Given the description of an element on the screen output the (x, y) to click on. 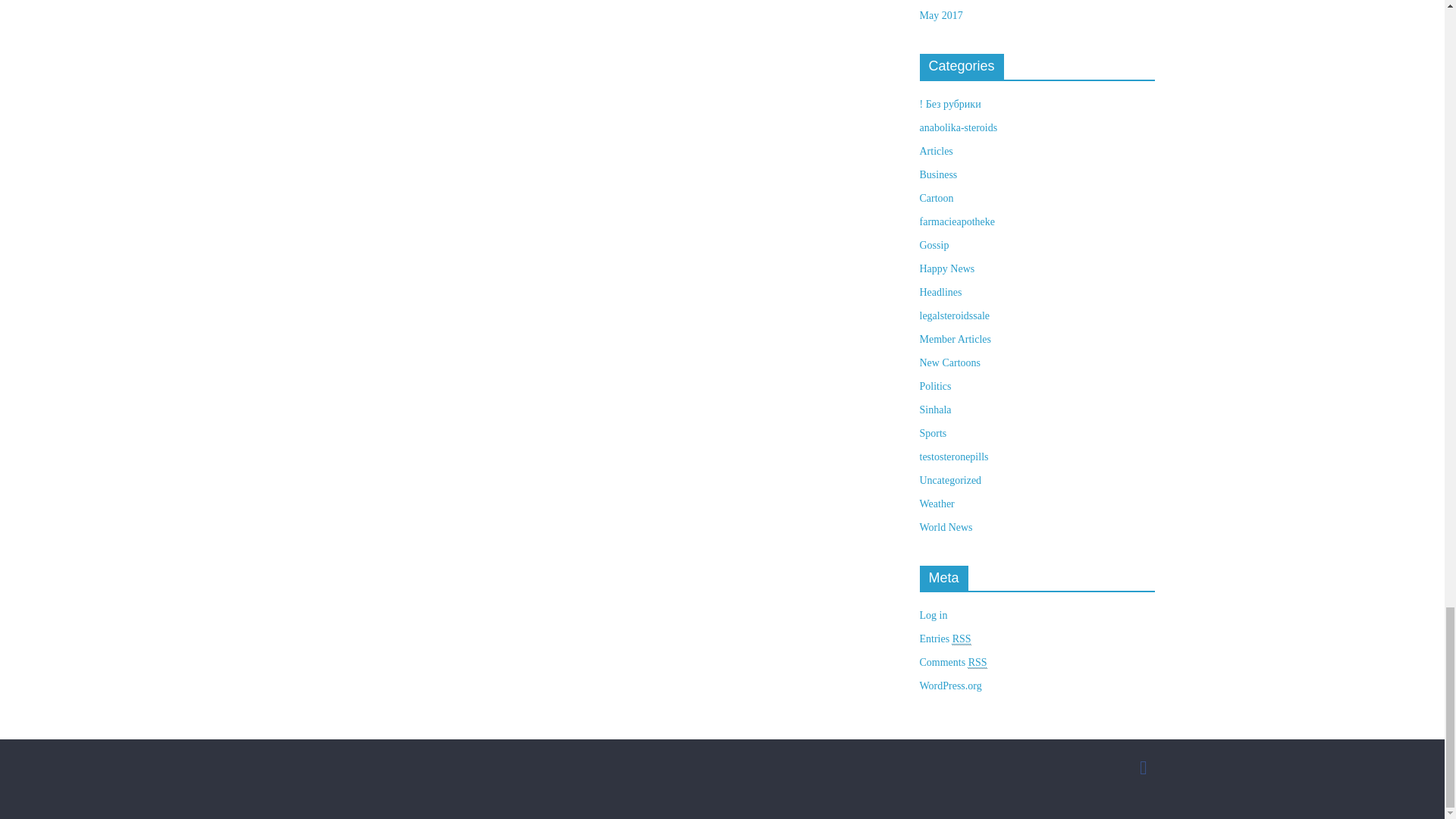
Really Simple Syndication (961, 639)
Really Simple Syndication (977, 662)
